Given the description of an element on the screen output the (x, y) to click on. 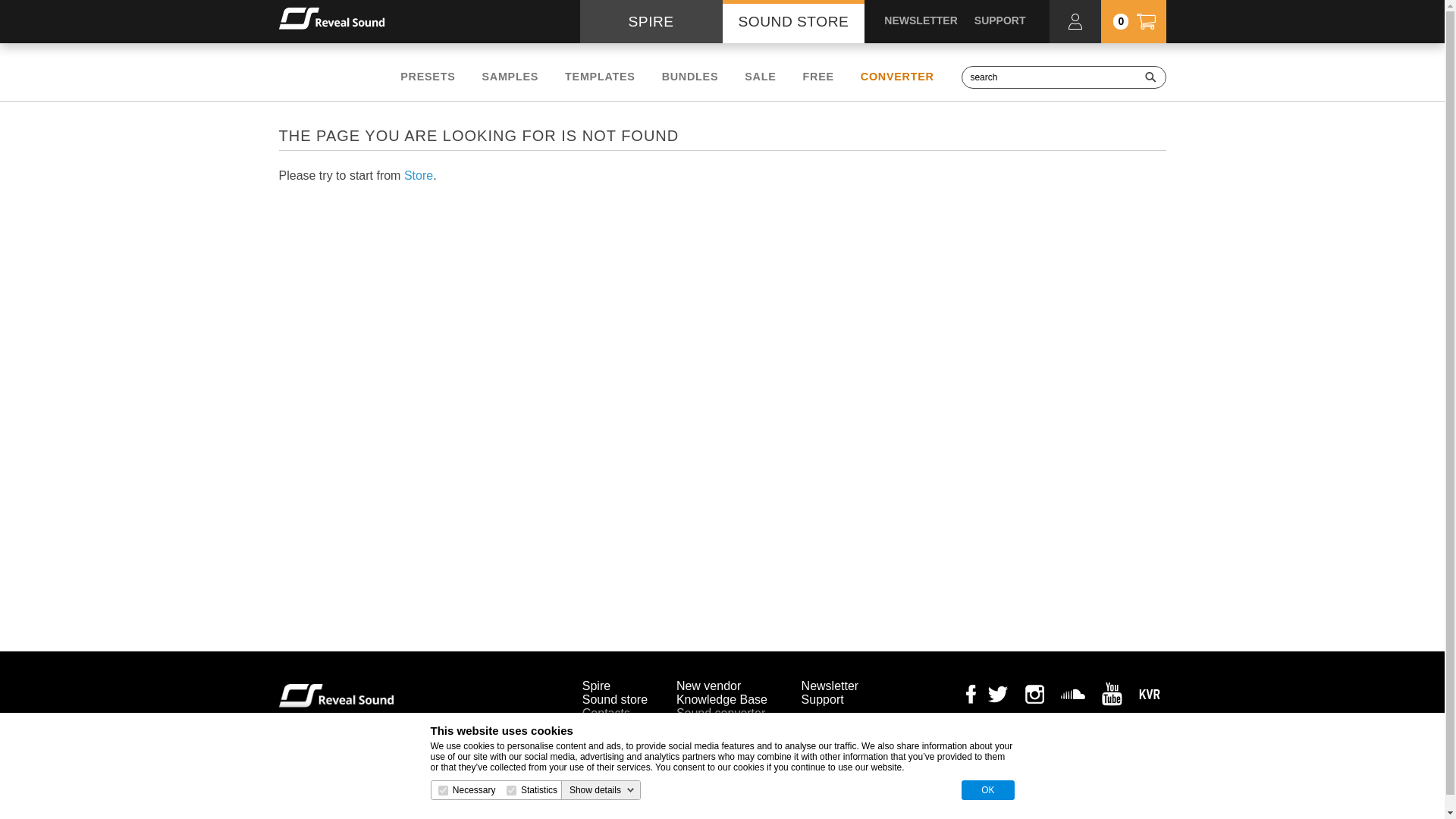
Spire (596, 685)
on (443, 790)
SALE (760, 76)
Contacts (606, 712)
SUPPORT (1000, 20)
PRESETS (427, 76)
Search (1149, 76)
SPIRE (650, 21)
TEMPLATES (599, 76)
FREE (818, 76)
Sound store (614, 698)
on (511, 790)
SAMPLES (509, 76)
